Given the description of an element on the screen output the (x, y) to click on. 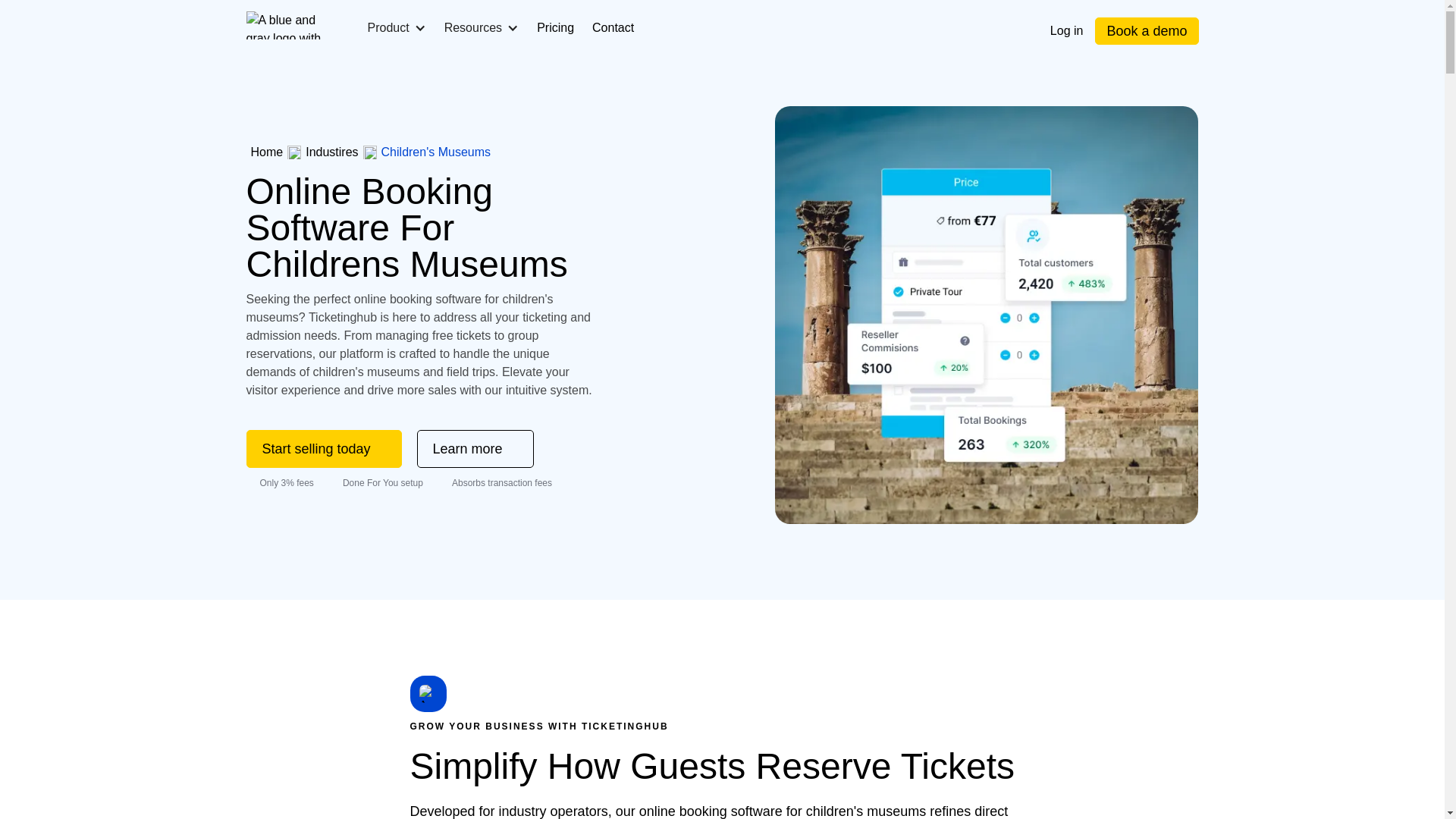
Book a demo (1146, 31)
Contact (613, 26)
Pricing (555, 26)
Log in (1066, 31)
